Given the description of an element on the screen output the (x, y) to click on. 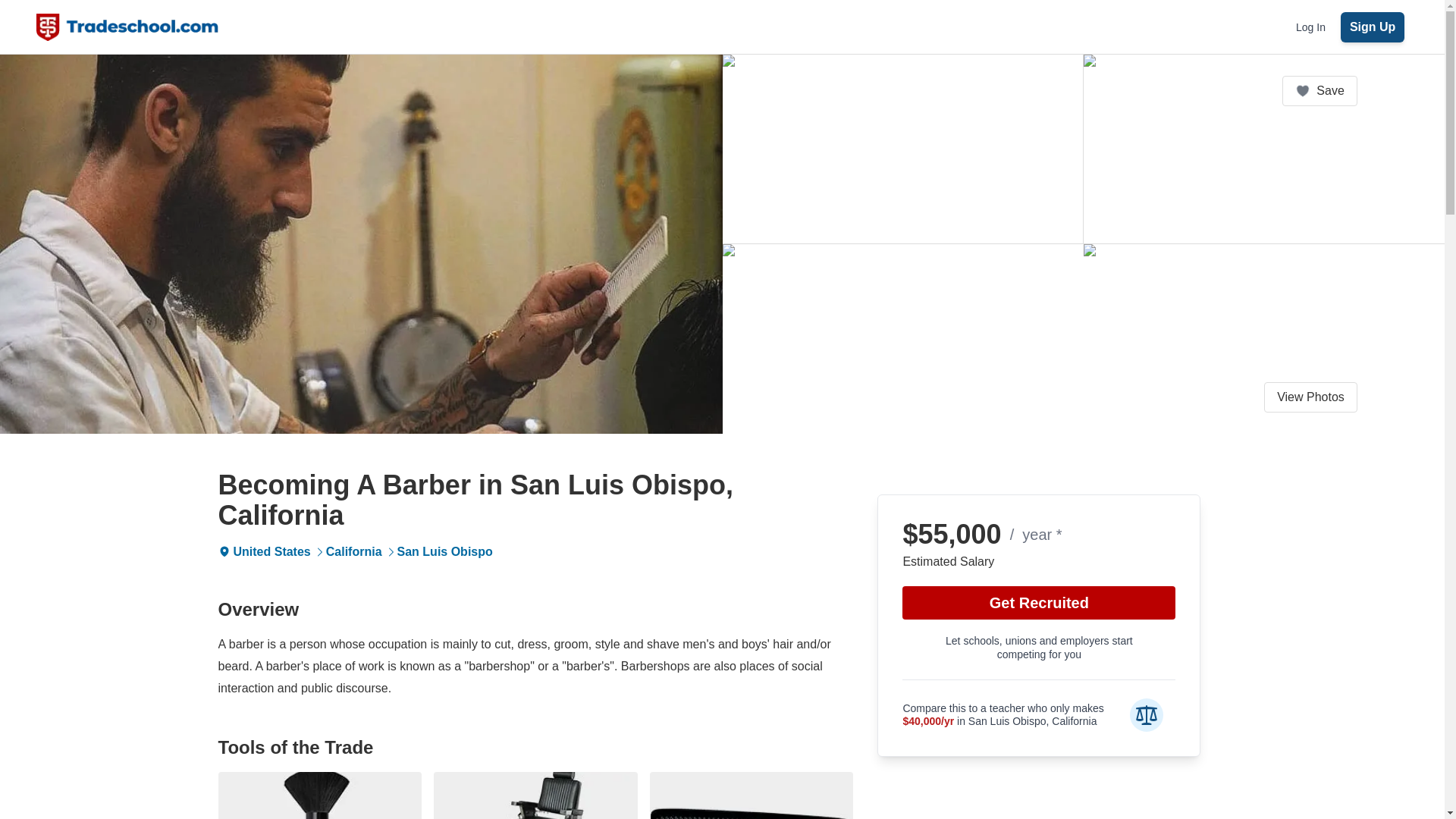
Save (1319, 91)
Log In (1311, 26)
View Photos (1309, 397)
Get Recruited (1038, 602)
Sign Up (1372, 27)
California (353, 551)
